Given the description of an element on the screen output the (x, y) to click on. 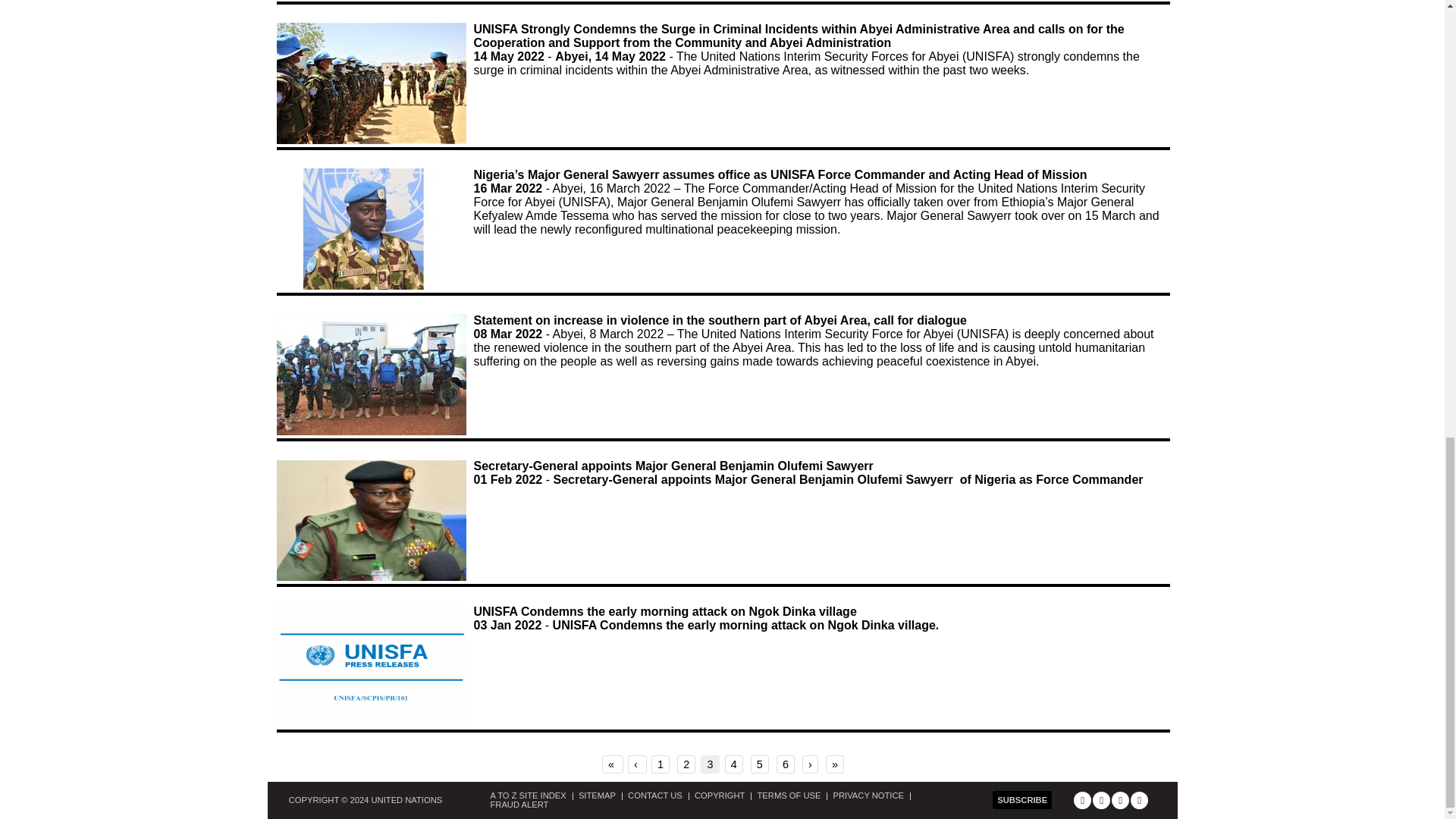
Go to page 4 (733, 764)
Go to page 5 (759, 764)
Go to page 1 (659, 764)
Go to page 2 (686, 764)
Go to page 6 (785, 764)
